Given the description of an element on the screen output the (x, y) to click on. 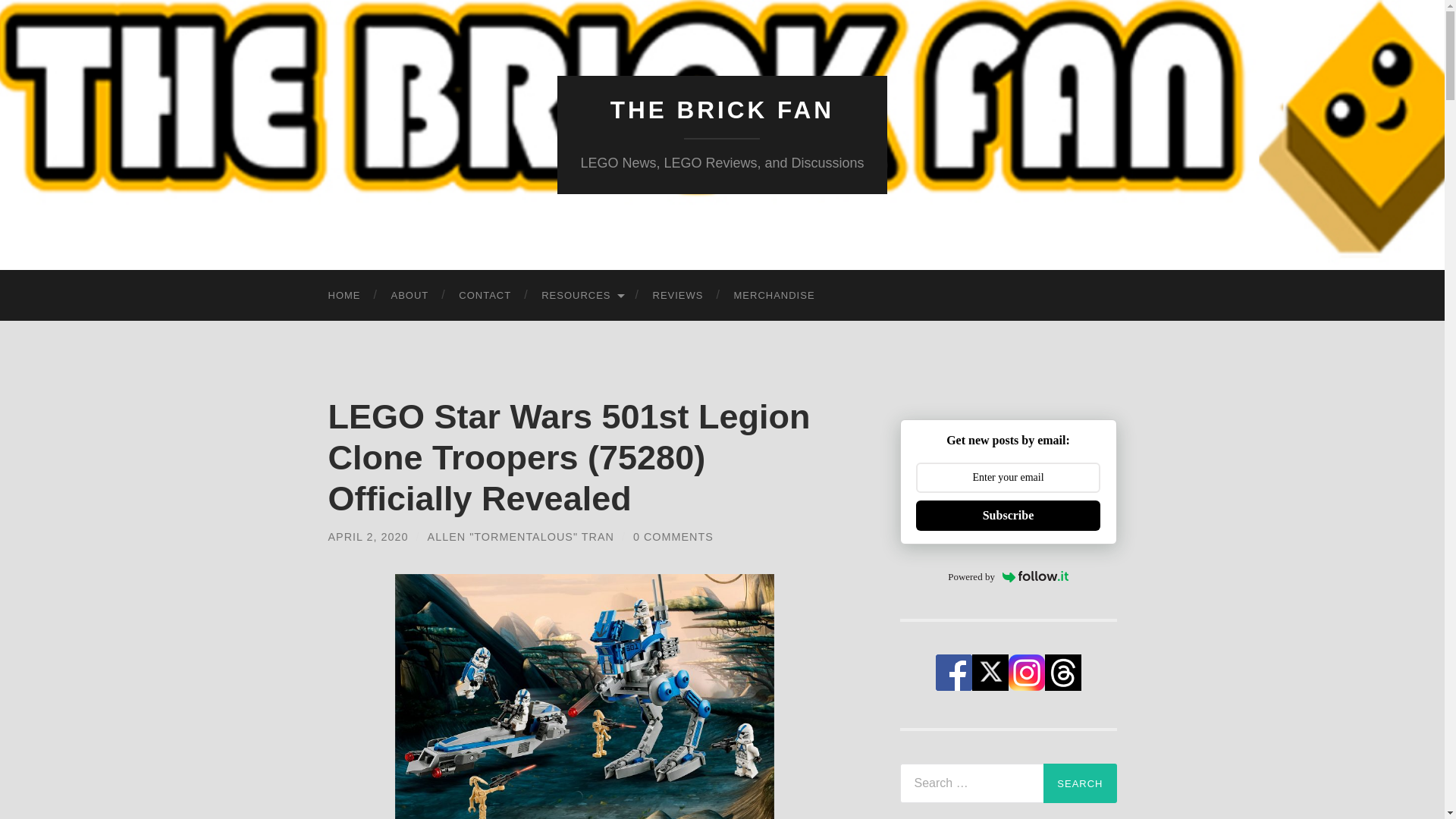
MERCHANDISE (774, 295)
0 COMMENTS (673, 536)
ALLEN "TORMENTALOUS" TRAN (521, 536)
THE BRICK FAN (722, 109)
CONTACT (484, 295)
Search (1079, 783)
Search (1079, 783)
ABOUT (409, 295)
HOME (344, 295)
RESOURCES (581, 295)
